Given the description of an element on the screen output the (x, y) to click on. 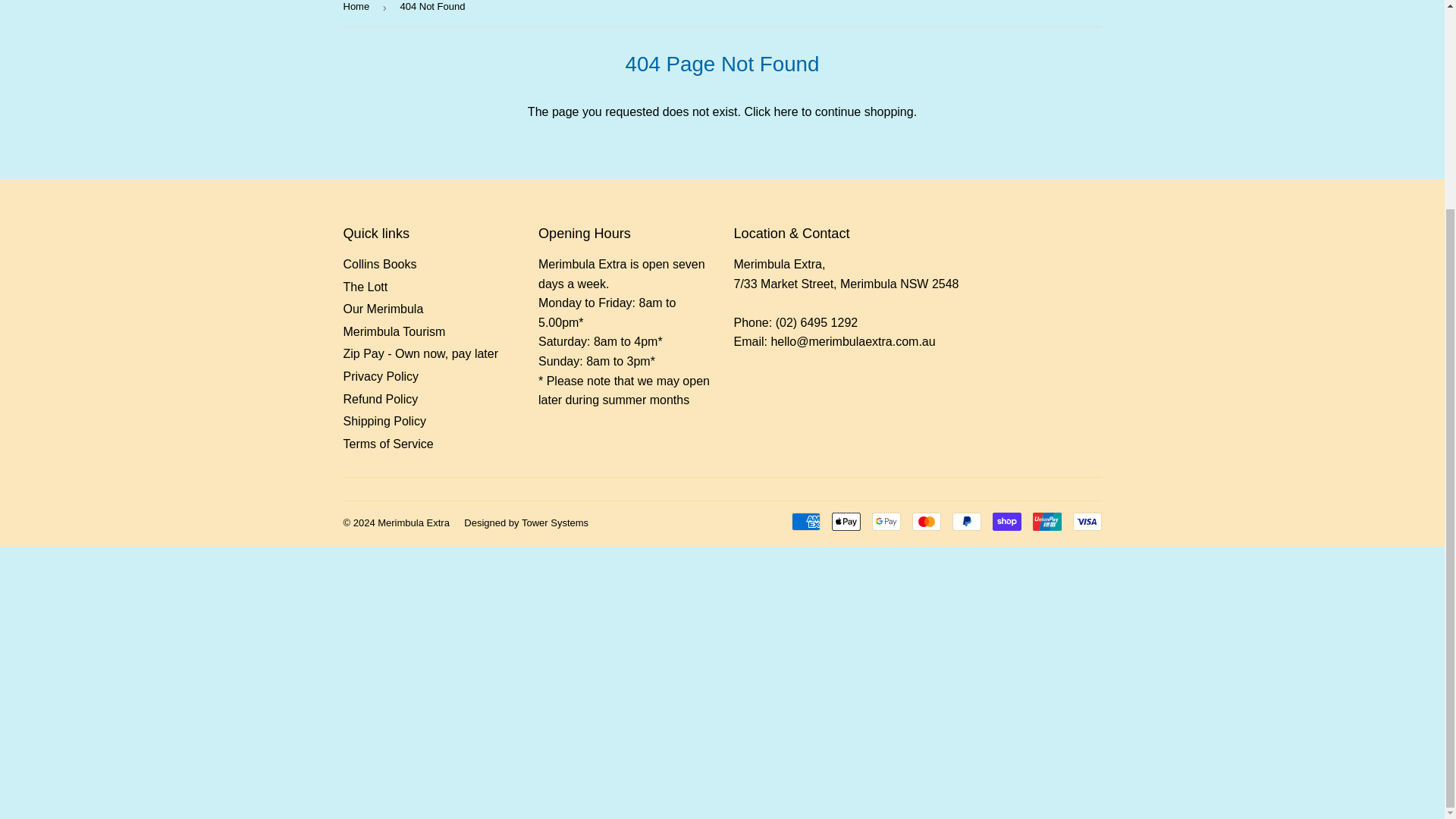
Mastercard (925, 521)
Shop Pay (1005, 521)
Apple Pay (845, 521)
Visa (1085, 521)
Click here to view our location map (846, 283)
Back to the frontpage (358, 13)
American Express (806, 521)
PayPal (966, 521)
Google Pay (886, 521)
Union Pay (1046, 521)
